Given the description of an element on the screen output the (x, y) to click on. 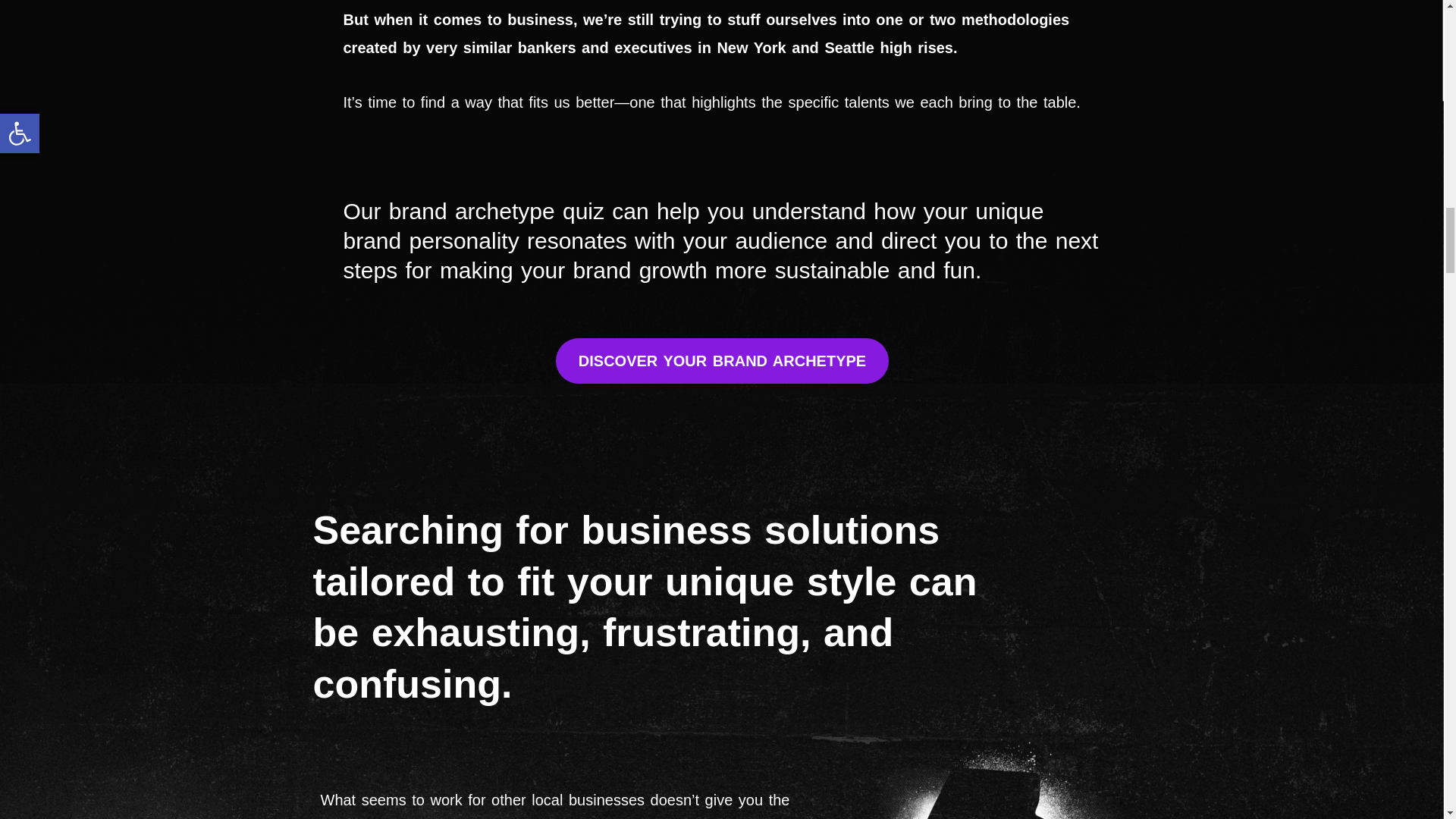
DISCOVER YOUR BRAND ARCHETYPE (722, 361)
